Given the description of an element on the screen output the (x, y) to click on. 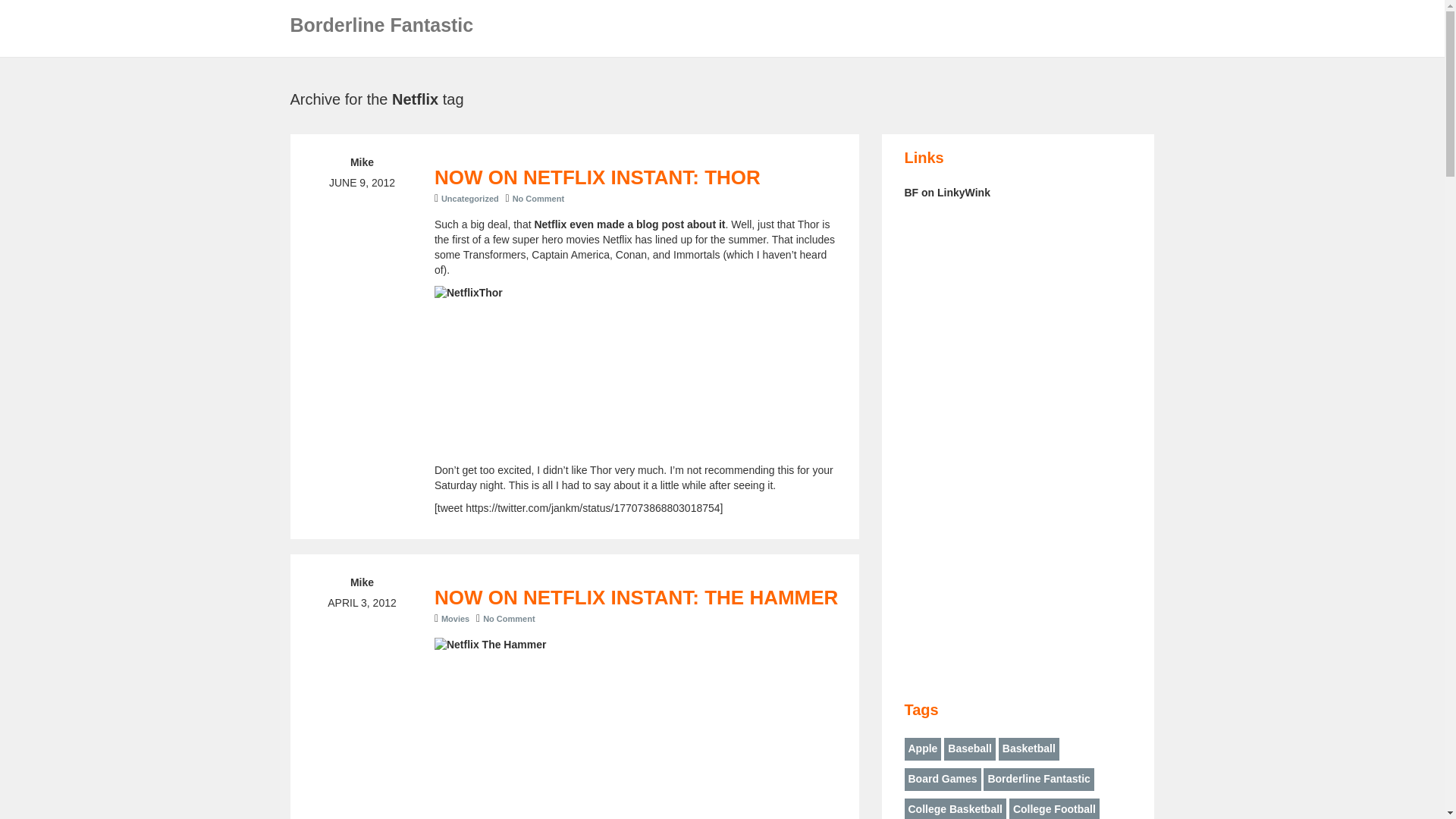
NetflixThor.jpg (638, 370)
No Comment (539, 198)
NOW ON NETFLIX INSTANT: THOR (596, 177)
NOW ON NETFLIX INSTANT: THE HAMMER (635, 597)
No Comment (510, 618)
Apple (922, 748)
Borderline Fantastic (381, 30)
Baseball (969, 748)
Uncategorized (470, 198)
BF on LinkyWink (947, 192)
